Given the description of an element on the screen output the (x, y) to click on. 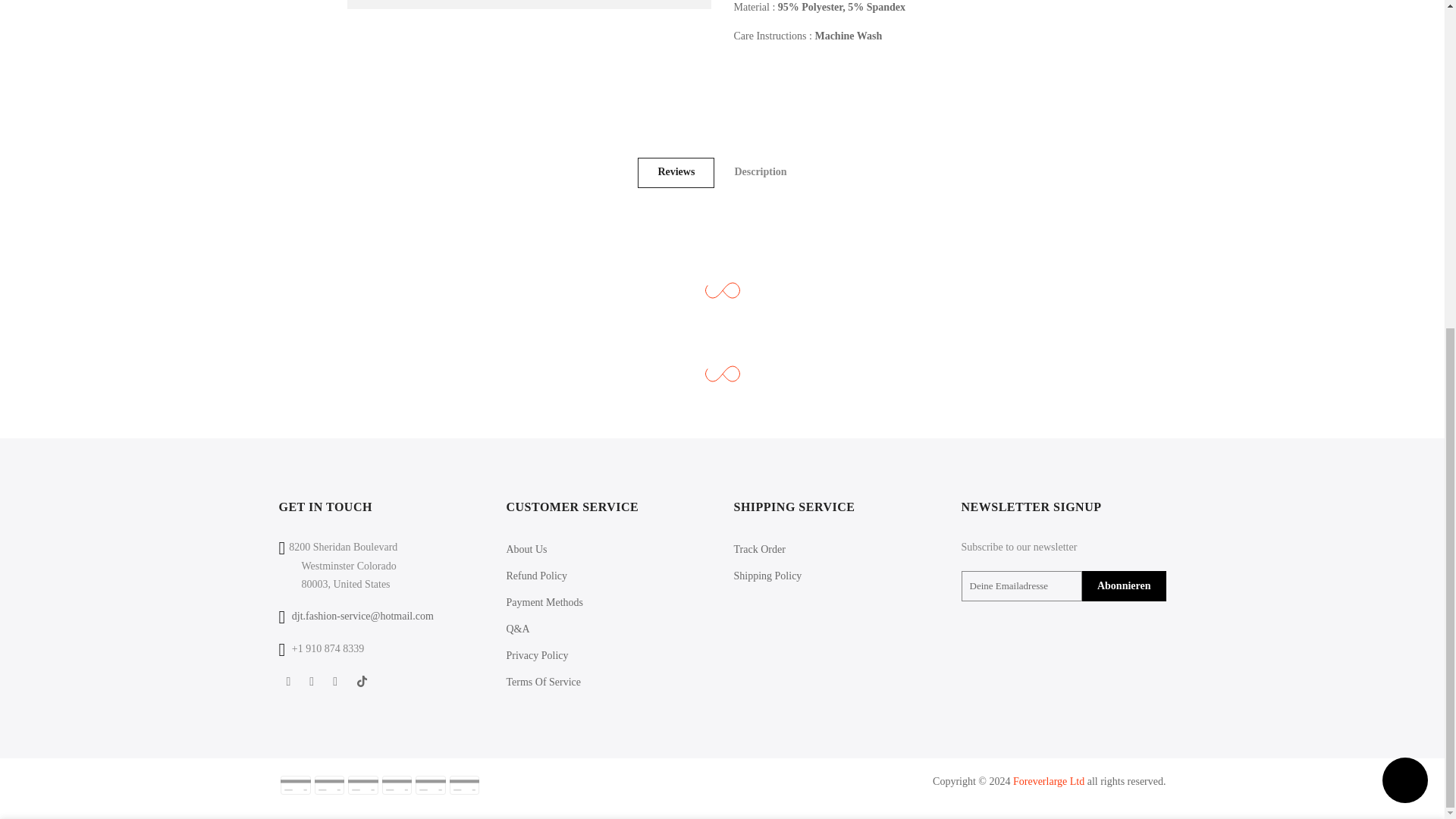
Onlineshop-Chat von Shopify (1404, 239)
Description (760, 173)
Reviews (675, 173)
